Given the description of an element on the screen output the (x, y) to click on. 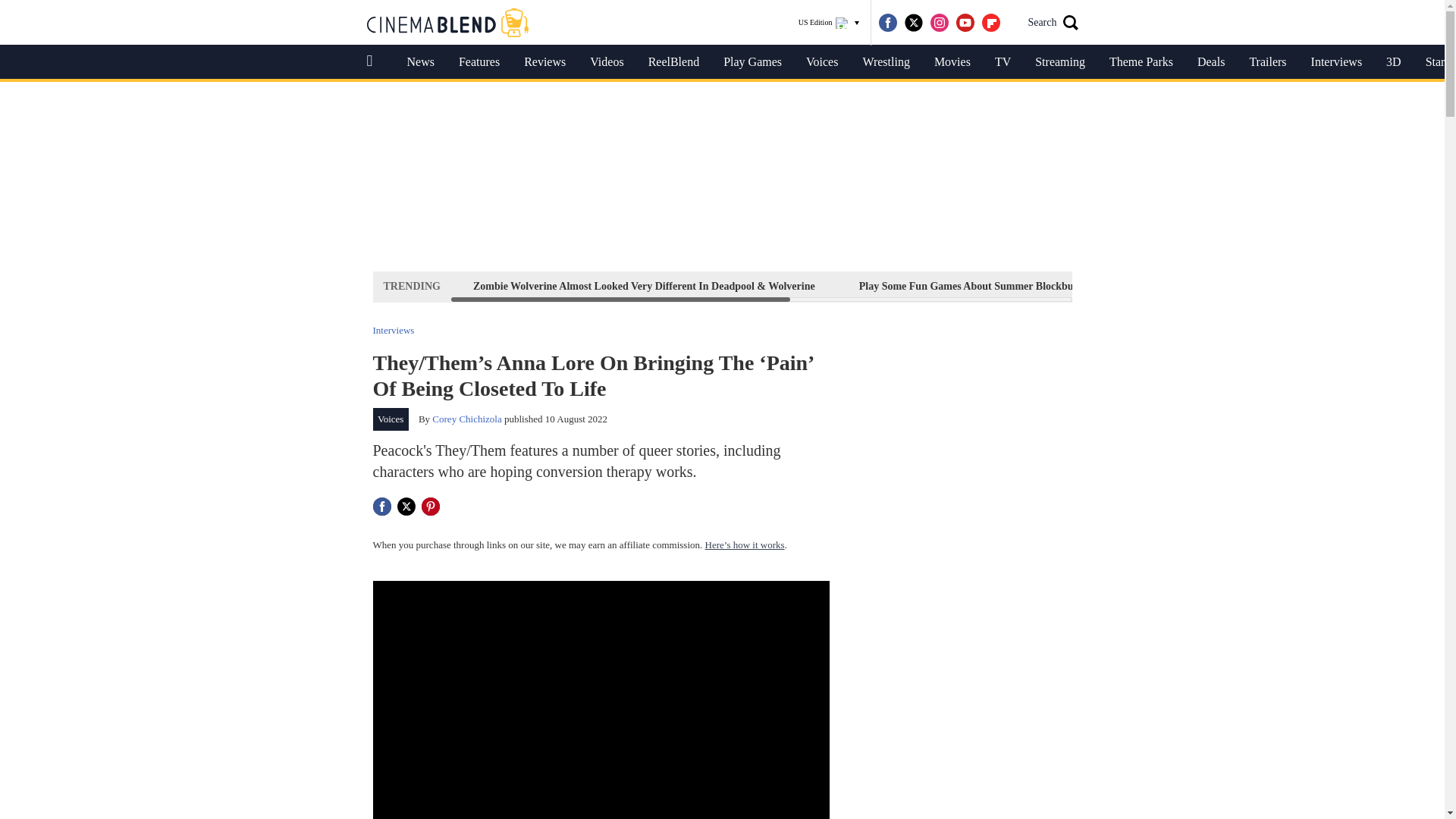
2024 Upcoming Movies (1191, 286)
US Edition (828, 22)
Theme Parks (1141, 61)
Interviews (1336, 61)
Streaming (1060, 61)
Trailers (1267, 61)
Features (479, 61)
3D (1393, 61)
ReelBlend (673, 61)
Reviews (545, 61)
